Given the description of an element on the screen output the (x, y) to click on. 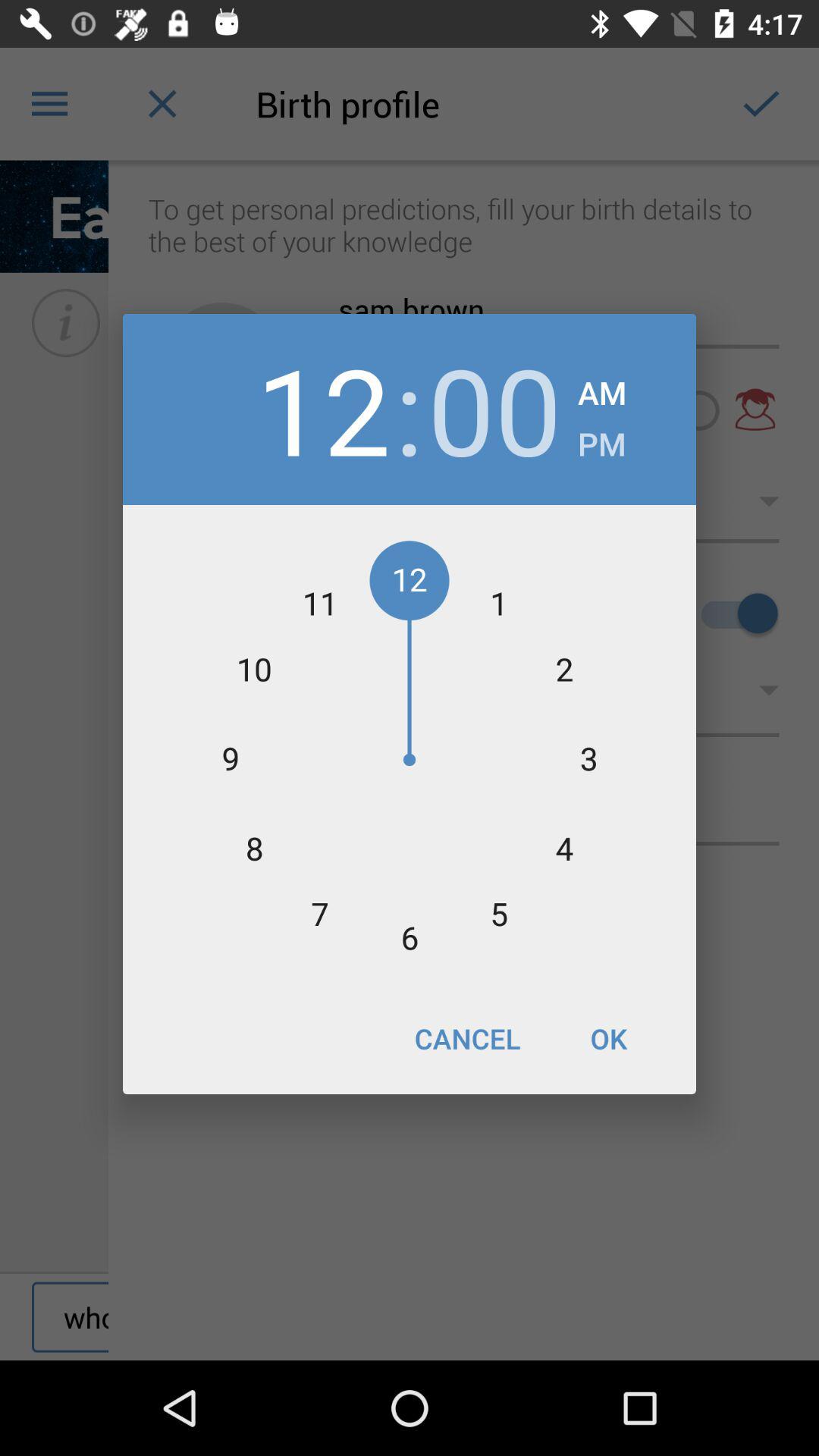
tap item to the right of 00 (601, 388)
